Given the description of an element on the screen output the (x, y) to click on. 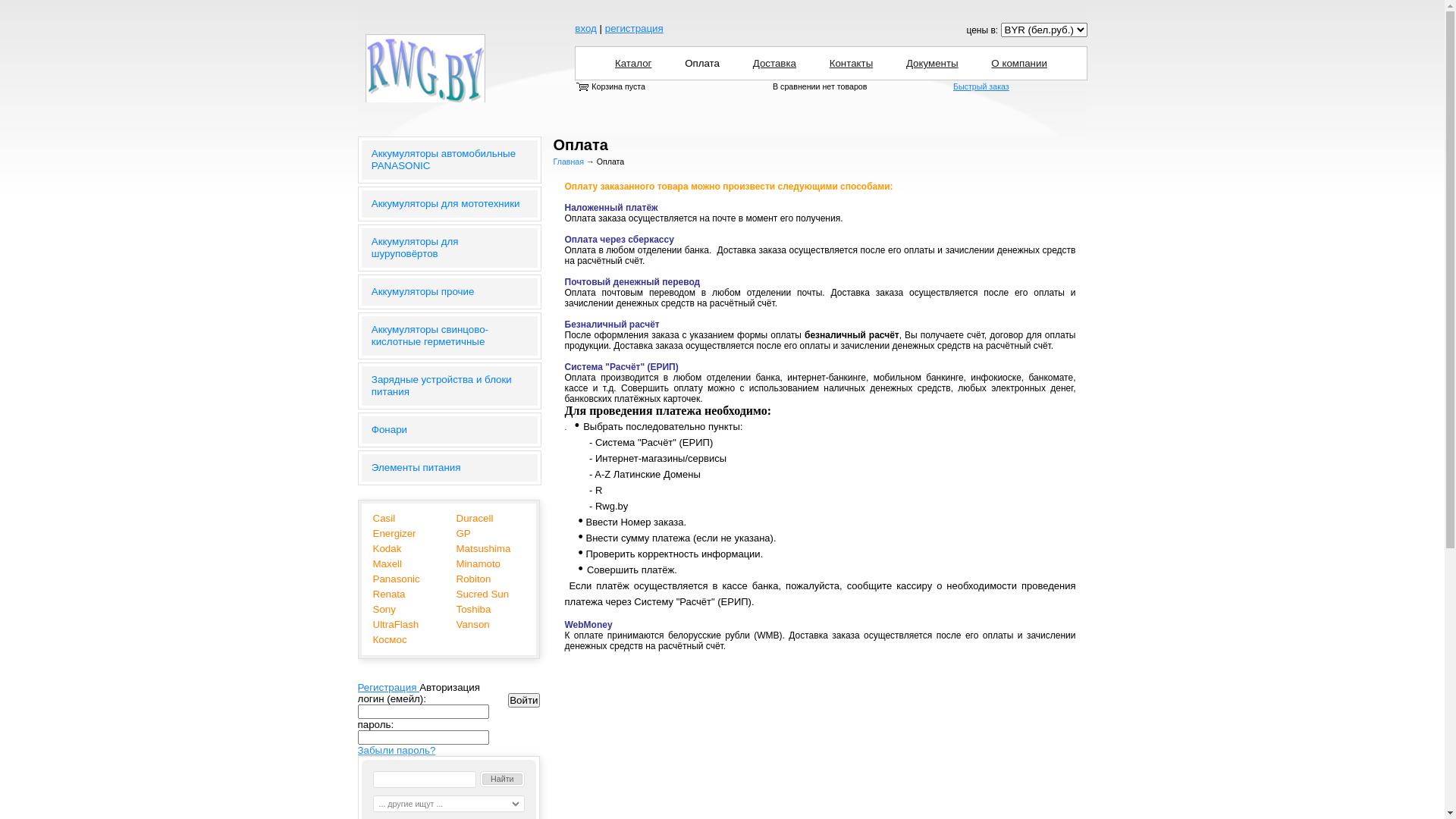
Vanson Element type: text (489, 624)
Casil Element type: text (406, 518)
Sony Element type: text (406, 609)
GP Element type: text (489, 533)
Kodak Element type: text (406, 548)
Maxell Element type: text (406, 563)
Matsushima Element type: text (489, 548)
Duracell Element type: text (489, 518)
Renata Element type: text (406, 594)
UltraFlash Element type: text (406, 624)
Energizer Element type: text (406, 533)
Panasonic Element type: text (406, 578)
Minamoto Element type: text (489, 563)
Sucred Sun Element type: text (489, 594)
Toshiba Element type: text (489, 609)
Robiton Element type: text (489, 578)
